Given the description of an element on the screen output the (x, y) to click on. 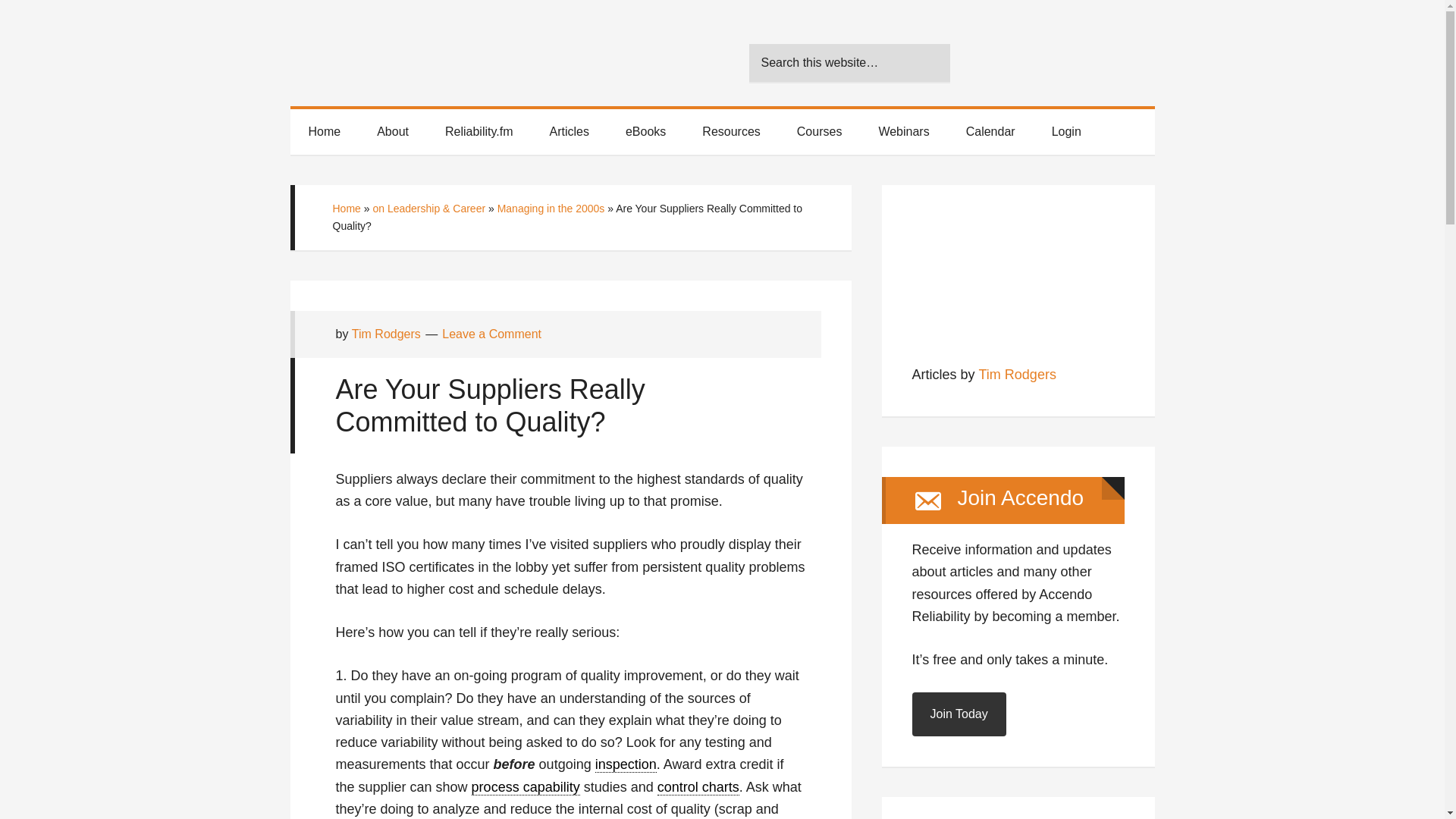
Free downloads for Accendo Reliability members (645, 131)
Home (323, 131)
About (392, 131)
Accendo Reliability (425, 53)
Reliability.fm (478, 131)
A reliability engineering focused podcast network (478, 131)
Home page (323, 131)
Articles (569, 131)
